Given the description of an element on the screen output the (x, y) to click on. 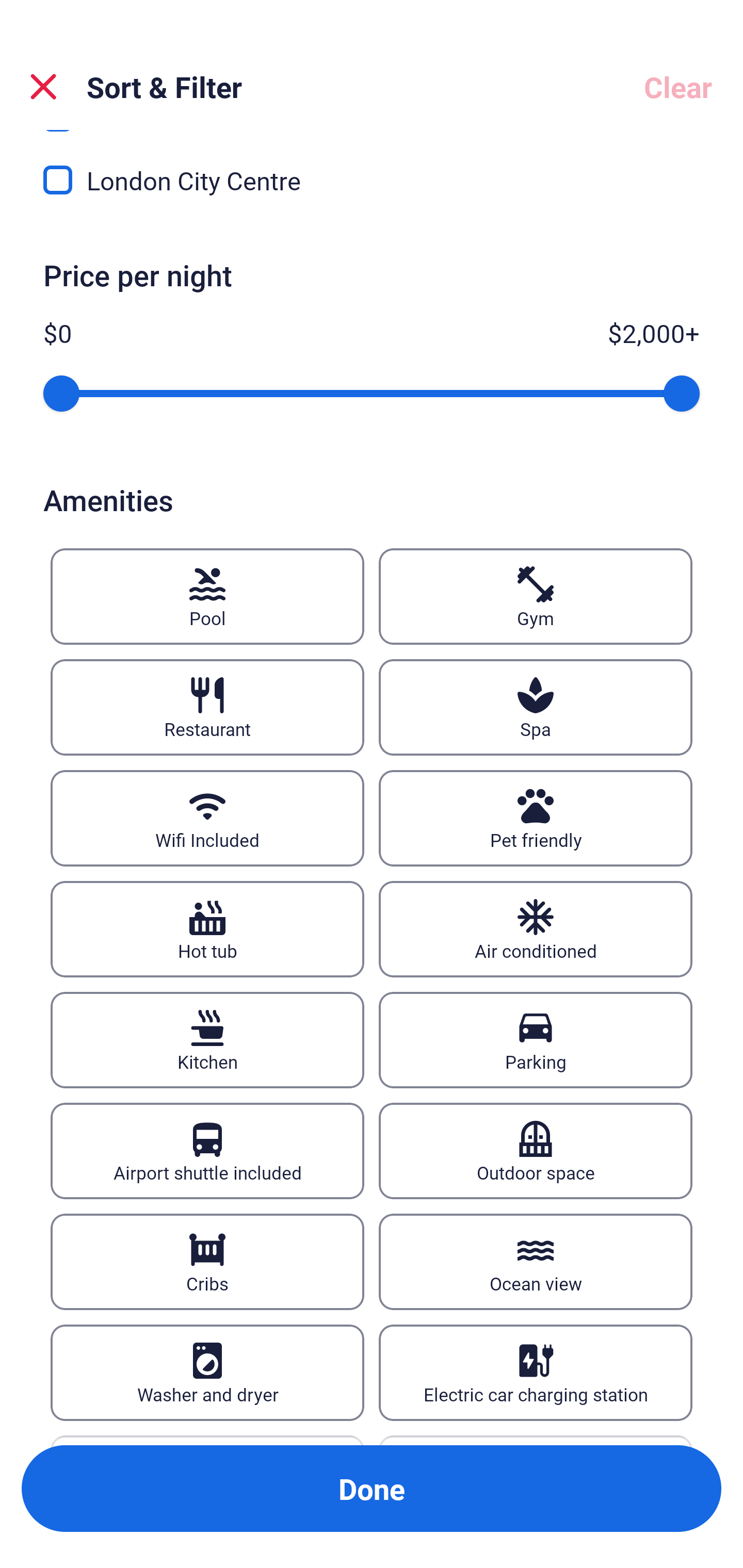
Close Sort and Filter (43, 86)
Clear (677, 86)
London City Centre, London City Centre (371, 180)
Pool (207, 596)
Gym (535, 596)
Restaurant (207, 706)
Spa (535, 706)
Wifi Included (207, 818)
Pet friendly (535, 818)
Hot tub (207, 928)
Air conditioned (535, 928)
Kitchen (207, 1040)
Parking (535, 1040)
Airport shuttle included (207, 1150)
Outdoor space (535, 1150)
Cribs (207, 1261)
Ocean view (535, 1261)
Washer and dryer (207, 1372)
Electric car charging station (535, 1372)
Apply and close Sort and Filter Done (371, 1488)
